Given the description of an element on the screen output the (x, y) to click on. 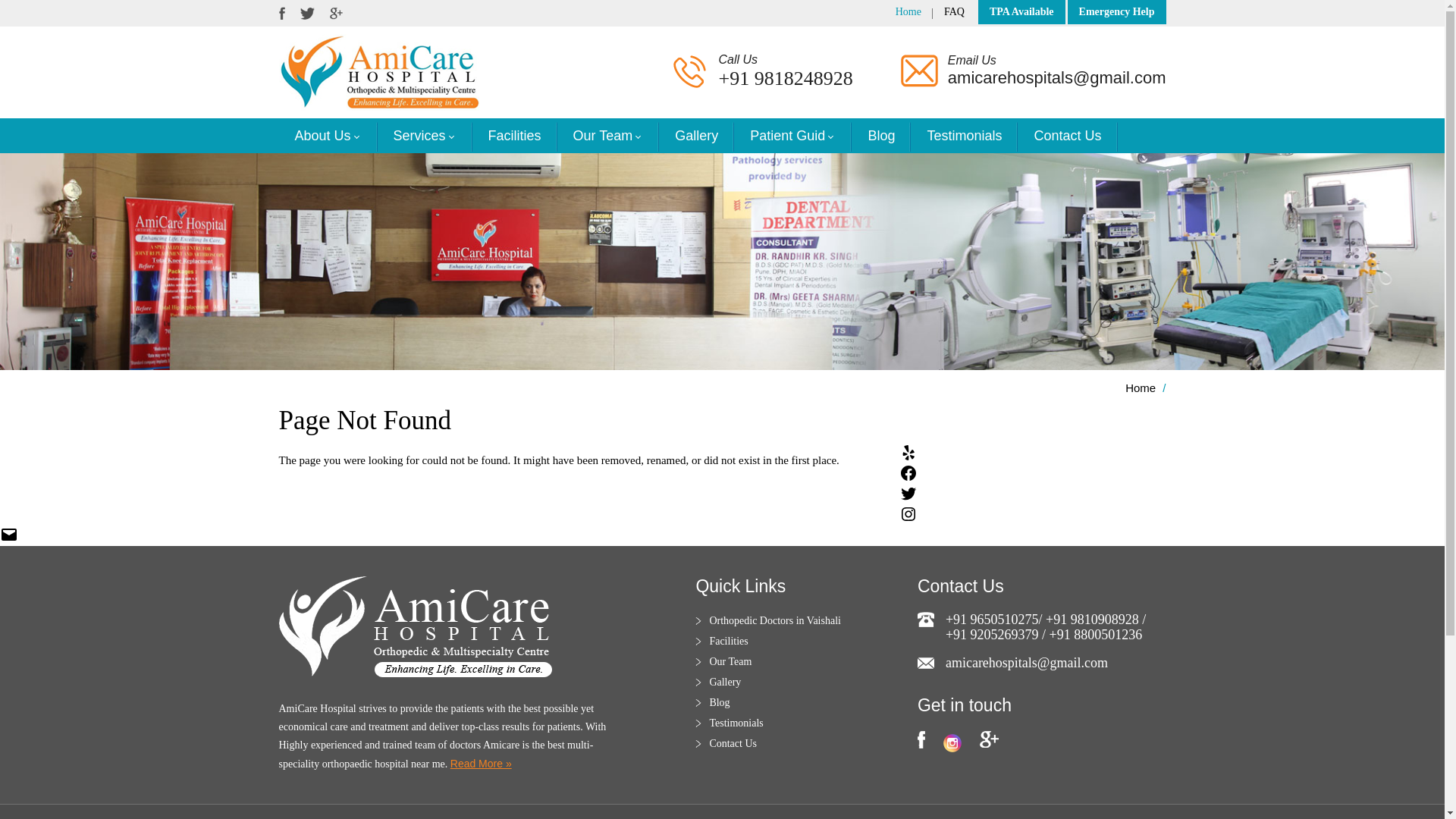
Google Busines (988, 739)
Blog (881, 135)
Instagram (951, 743)
Patient Guid (792, 135)
Gallery (696, 135)
Emergency Help (1116, 11)
Our Team (608, 135)
FAQ (953, 11)
Facilities (514, 135)
About Us (328, 135)
